Given the description of an element on the screen output the (x, y) to click on. 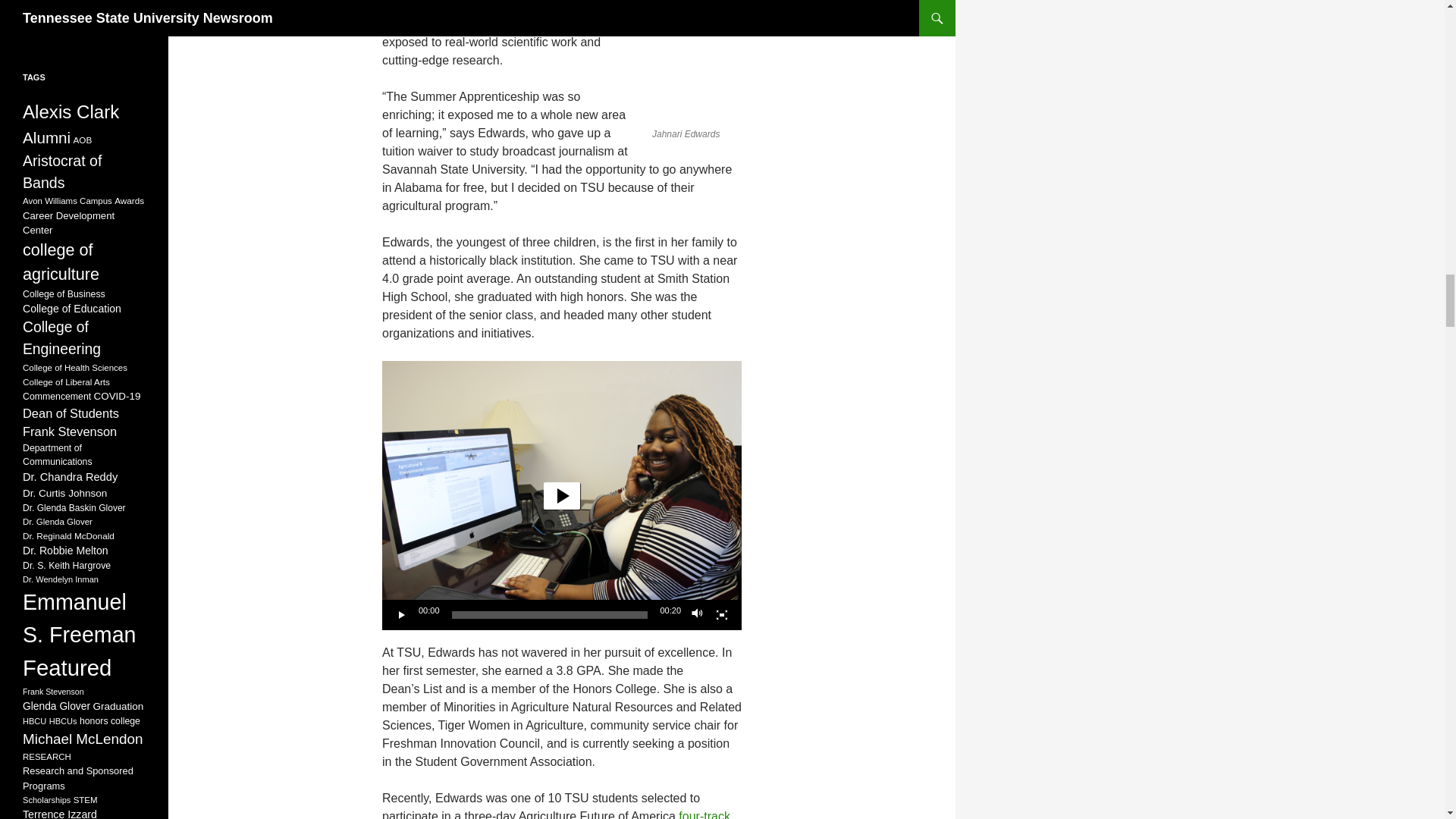
Fullscreen (721, 614)
Mute (697, 614)
Play (401, 614)
